Given the description of an element on the screen output the (x, y) to click on. 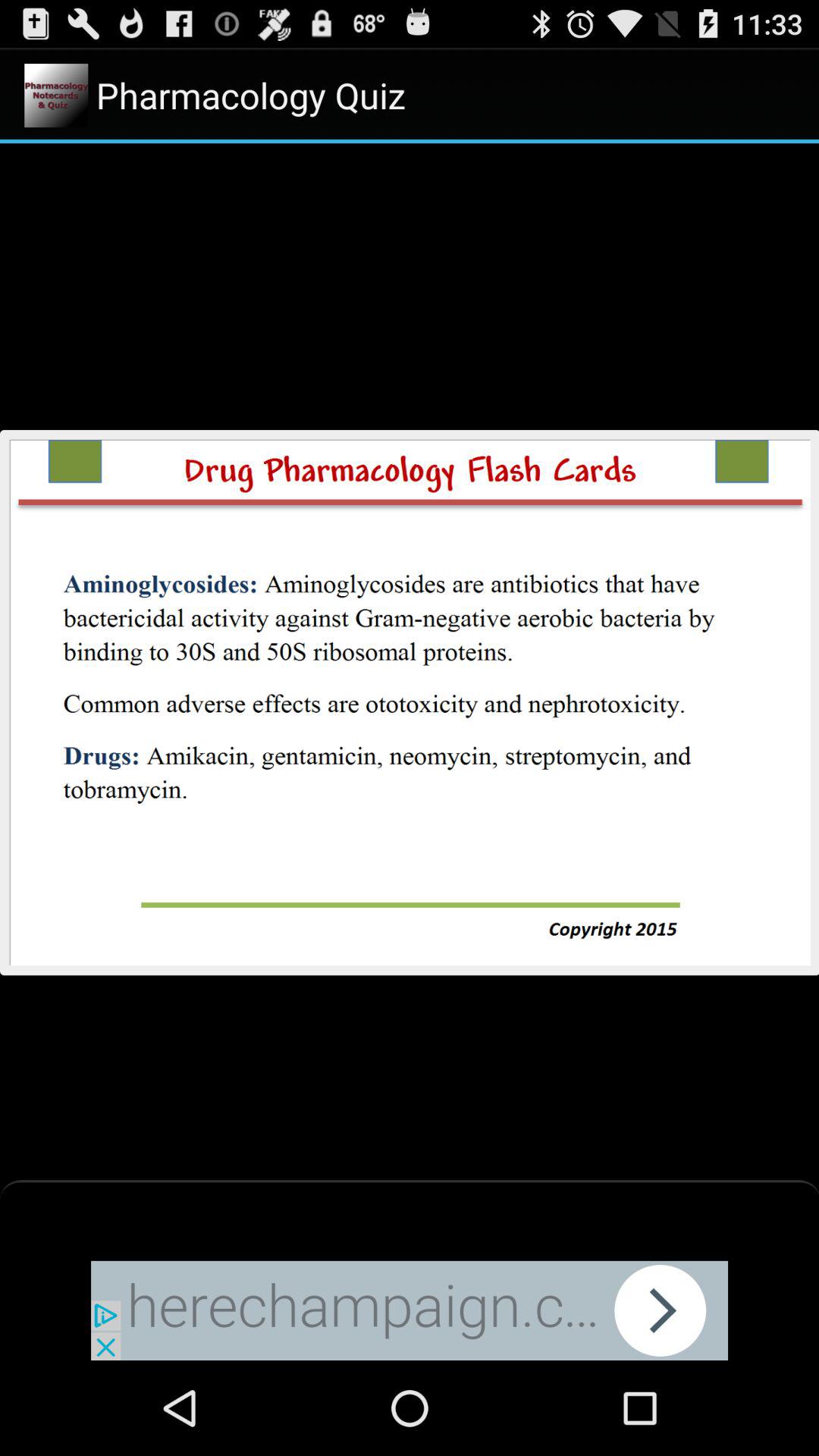
choose the description (409, 701)
